Given the description of an element on the screen output the (x, y) to click on. 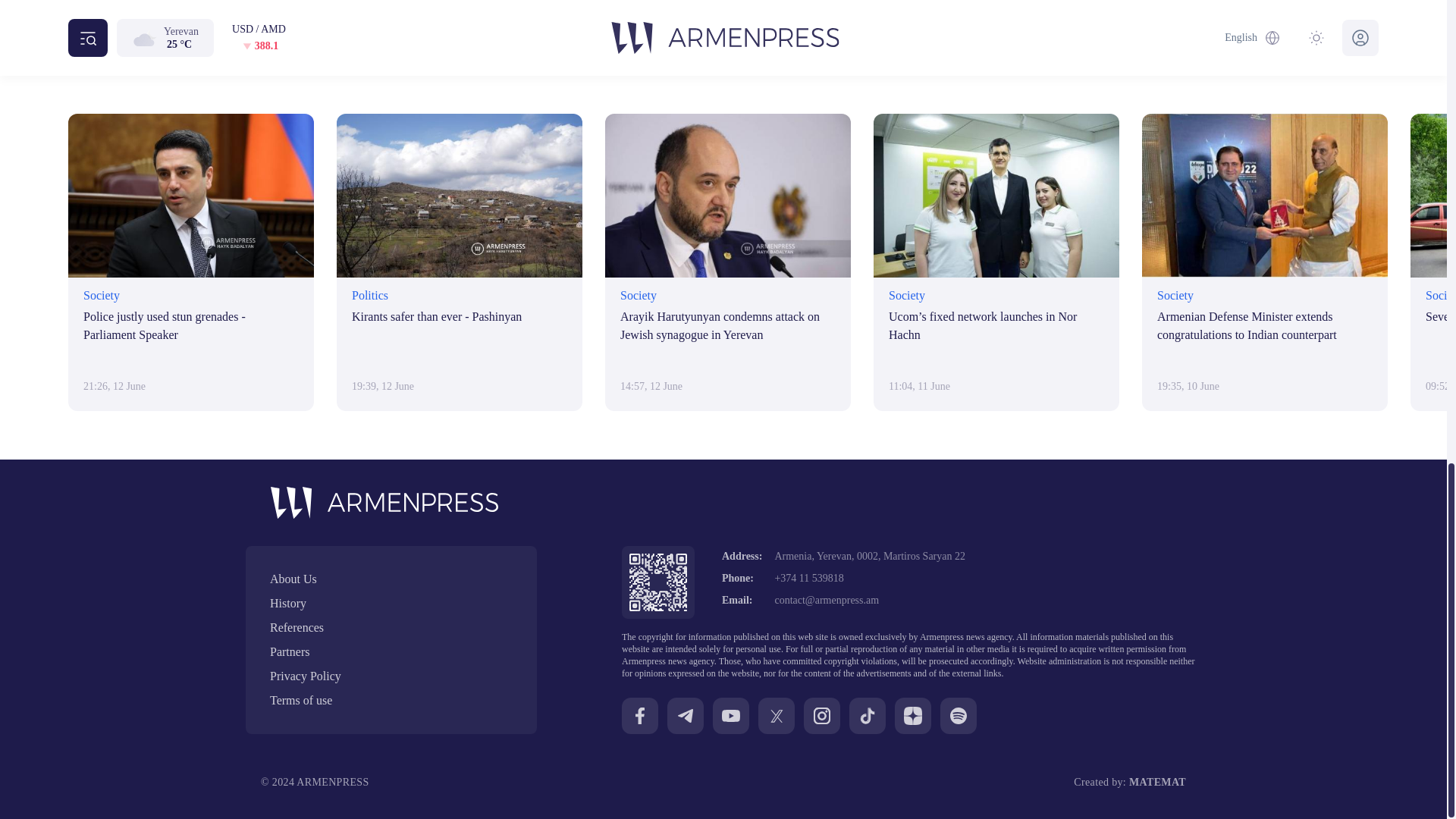
About Us (390, 579)
Society (654, 11)
References (390, 628)
Terms of use (390, 700)
Society (654, 11)
History (390, 603)
Privacy Policy (390, 676)
Partners (390, 651)
